Given the description of an element on the screen output the (x, y) to click on. 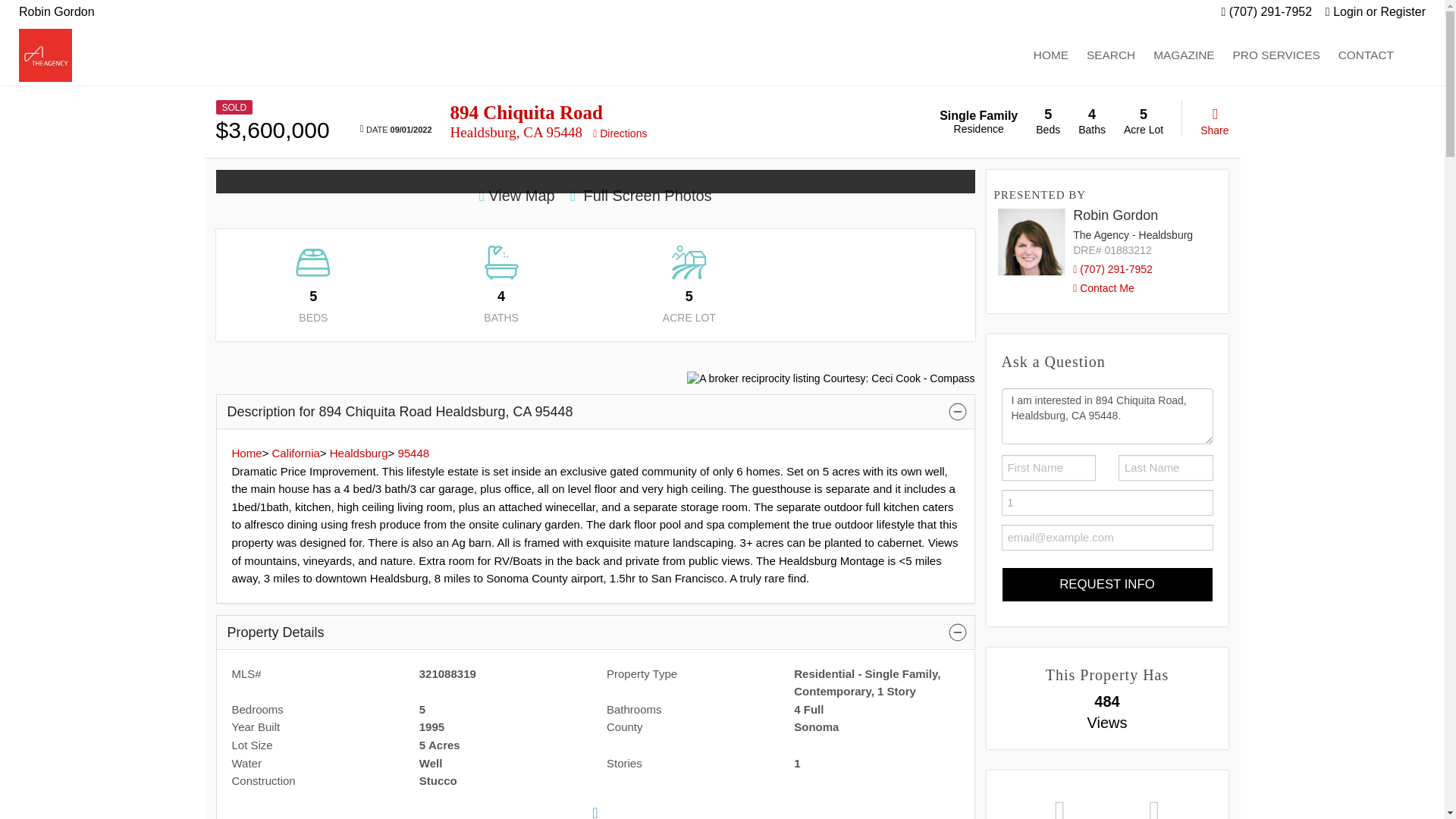
1 (1106, 502)
SEARCH (1110, 55)
PRO SERVICES (1276, 55)
Login or Register (1374, 11)
HOME (1051, 55)
MAGAZINE (1183, 55)
First Name (1048, 467)
Questions or comments?  Email, call, fax or write us. (1366, 55)
CONTACT (1366, 55)
